Given the description of an element on the screen output the (x, y) to click on. 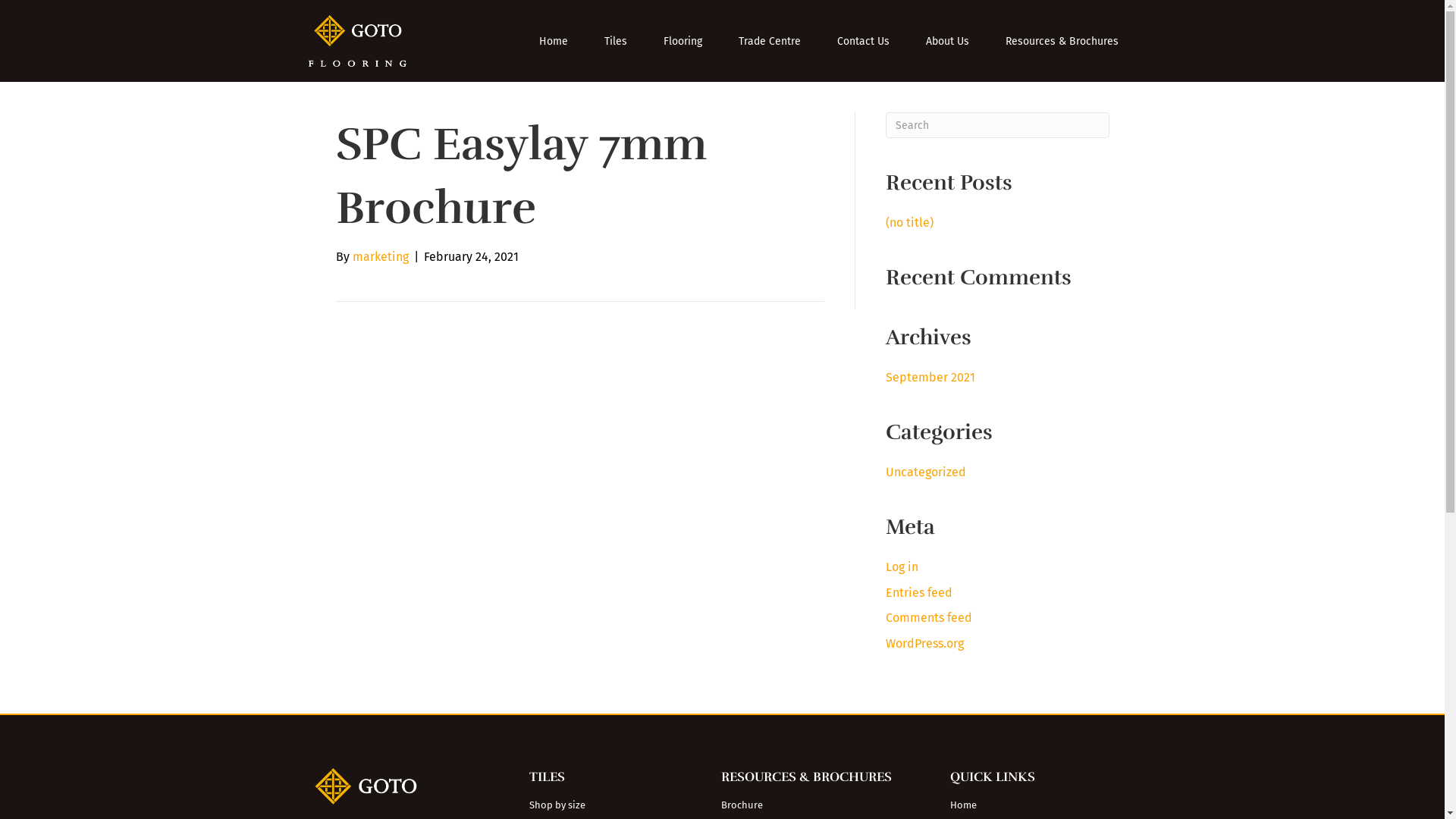
About Us Element type: text (947, 40)
Home Element type: text (553, 40)
Entries feed Element type: text (918, 592)
Contact Us Element type: text (862, 40)
marketing Element type: text (379, 256)
Flooring Element type: text (682, 40)
Home Element type: text (1042, 805)
Comments feed Element type: text (928, 617)
Resources & Brochures Element type: text (1061, 40)
Shop by size Element type: text (610, 805)
Trade Centre Element type: text (769, 40)
September 2021 Element type: text (930, 377)
Uncategorized Element type: text (925, 471)
Log in Element type: text (901, 566)
logo Element type: hover (356, 40)
WordPress.org Element type: text (924, 643)
Type and press Enter to search. Element type: hover (997, 125)
Tiles Element type: text (615, 40)
Brochure Element type: text (820, 805)
(no title) Element type: text (909, 222)
